Given the description of an element on the screen output the (x, y) to click on. 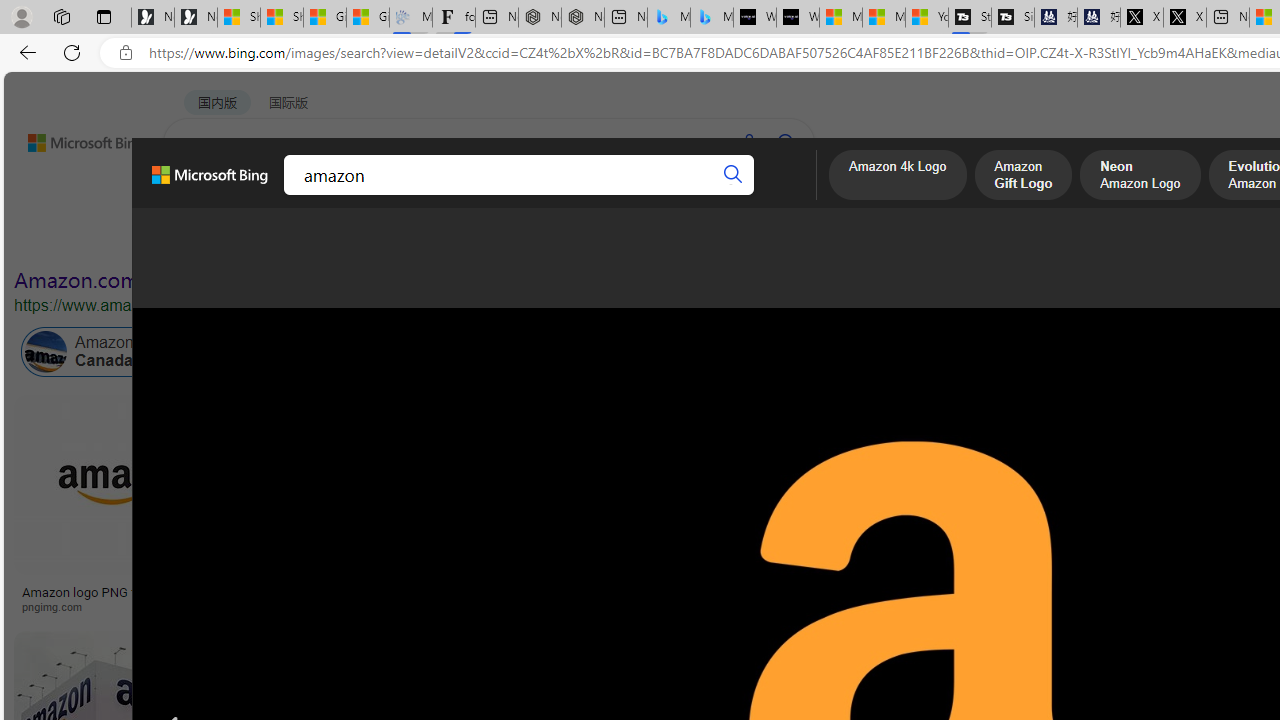
People (520, 237)
Alexa Smart Home Devices (1087, 584)
Image result for amazon (903, 485)
aiophotoz.com (902, 606)
MAPS (698, 195)
Microsoft Bing Travel - Stays in Bangkok, Bangkok, Thailand (668, 17)
Echo Dot 4th Gen (1087, 465)
